Given the description of an element on the screen output the (x, y) to click on. 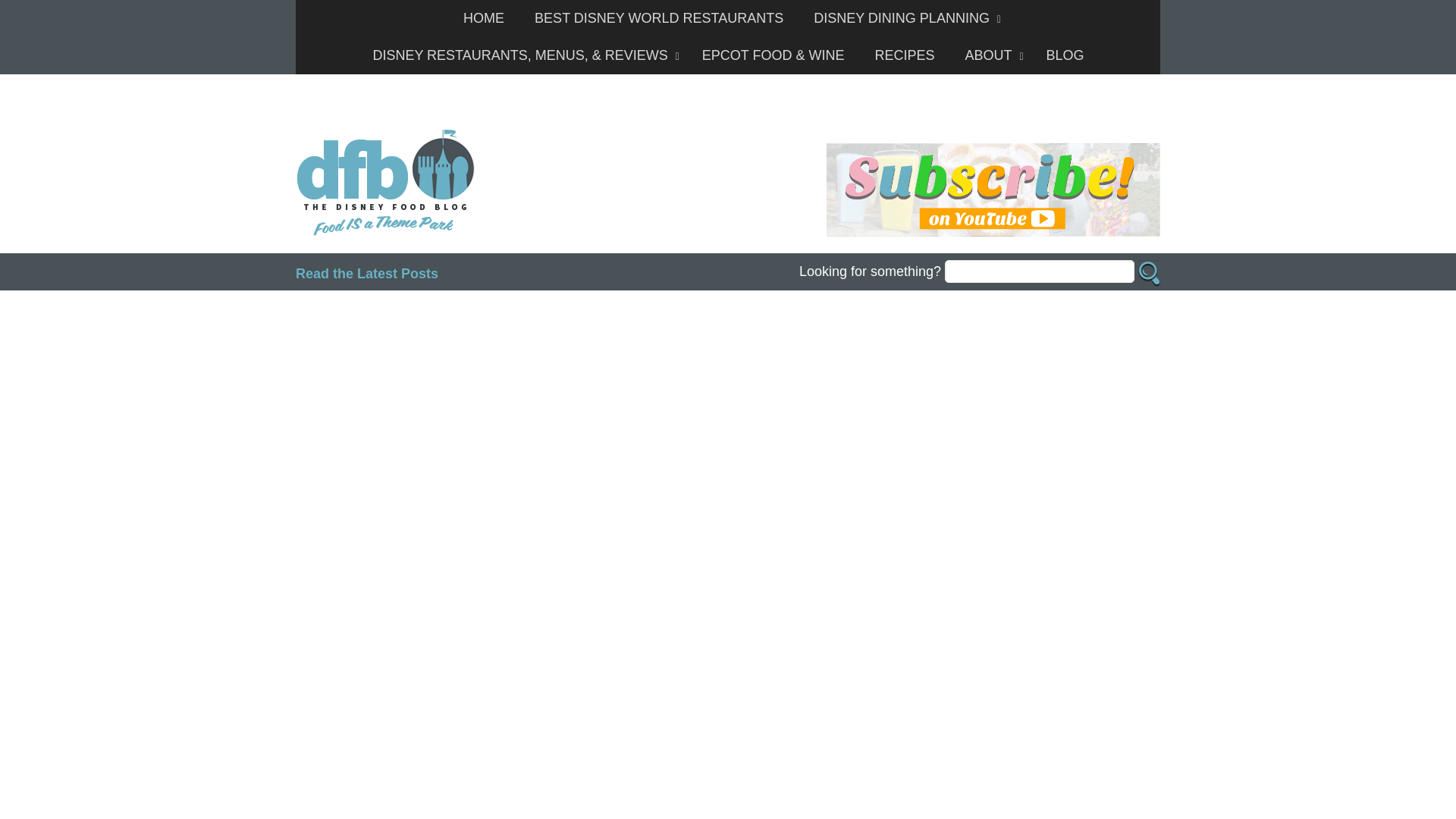
DISNEY DINING PLANNING (903, 18)
BEST DISNEY WORLD RESTAURANTS (658, 18)
HOME (483, 18)
